Given the description of an element on the screen output the (x, y) to click on. 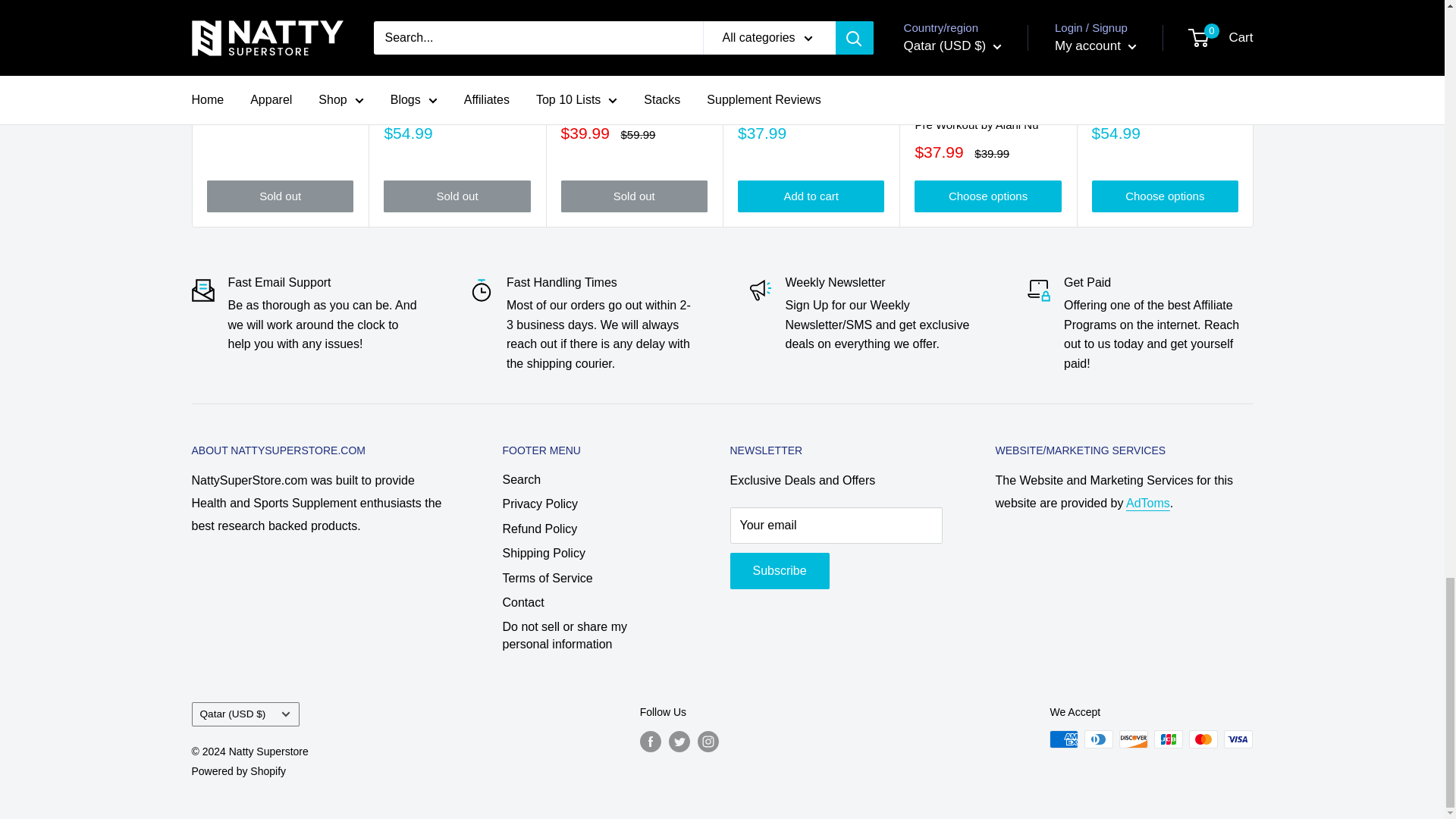
AdToms (1147, 502)
